Given the description of an element on the screen output the (x, y) to click on. 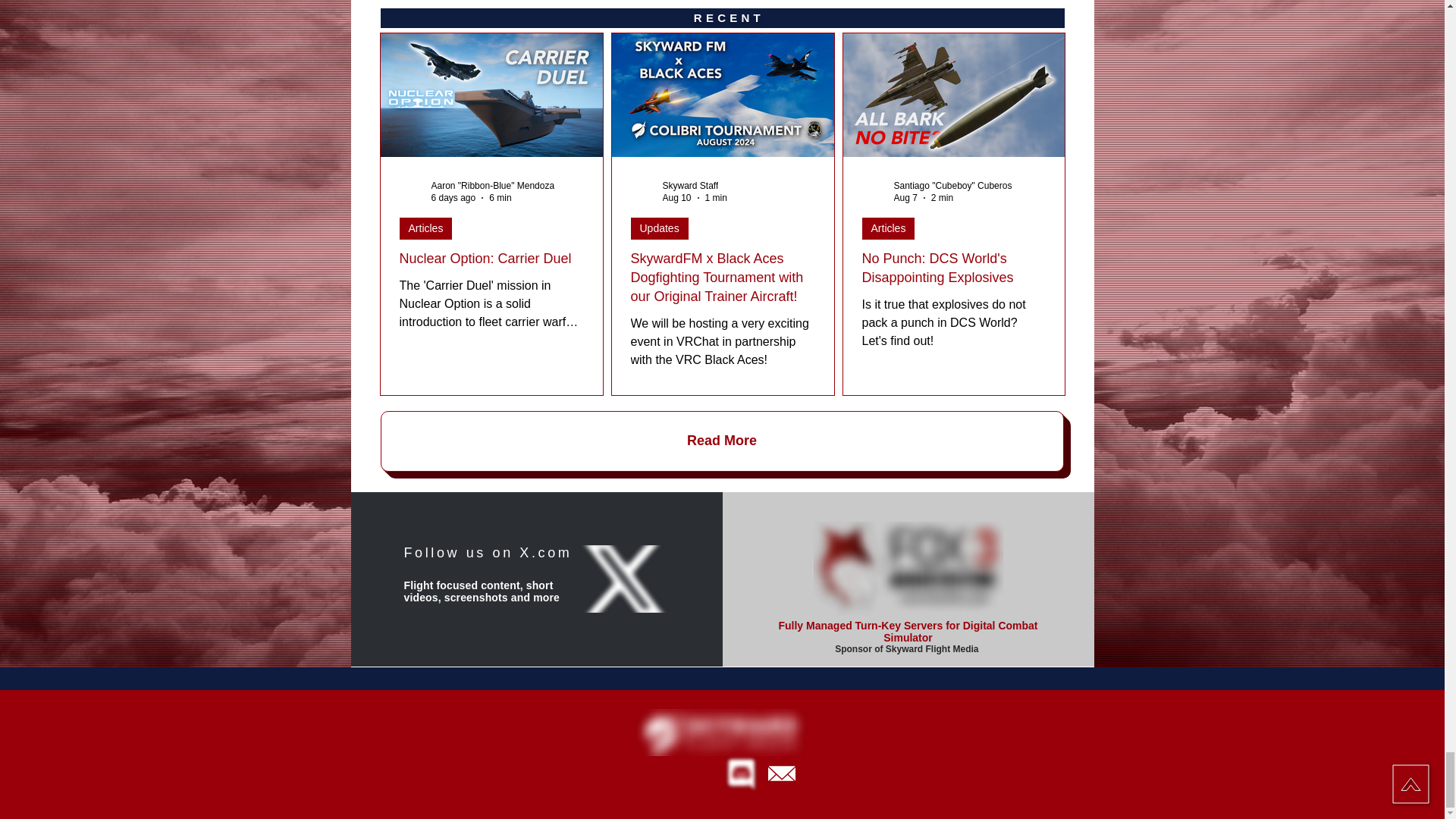
Aug 10 (676, 197)
6 days ago (453, 197)
6 min (500, 197)
Skyward Staff (690, 185)
Aaron "Ribbon-Blue" Mendoza (492, 185)
